Given the description of an element on the screen output the (x, y) to click on. 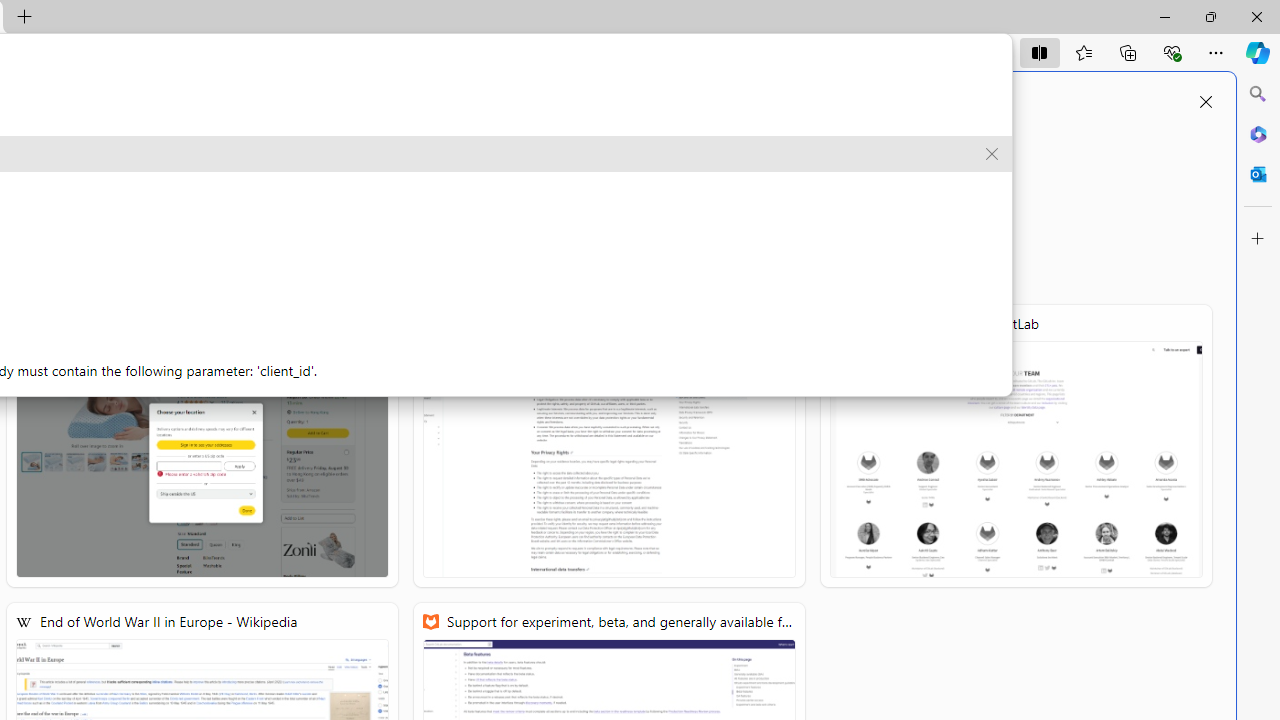
Tabs you've opened (542, 265)
GitHub General Privacy Statement - GitHub Docs (609, 446)
Frequently visited (683, 265)
Search or enter web address (609, 191)
Remove suggestion (991, 153)
